Given the description of an element on the screen output the (x, y) to click on. 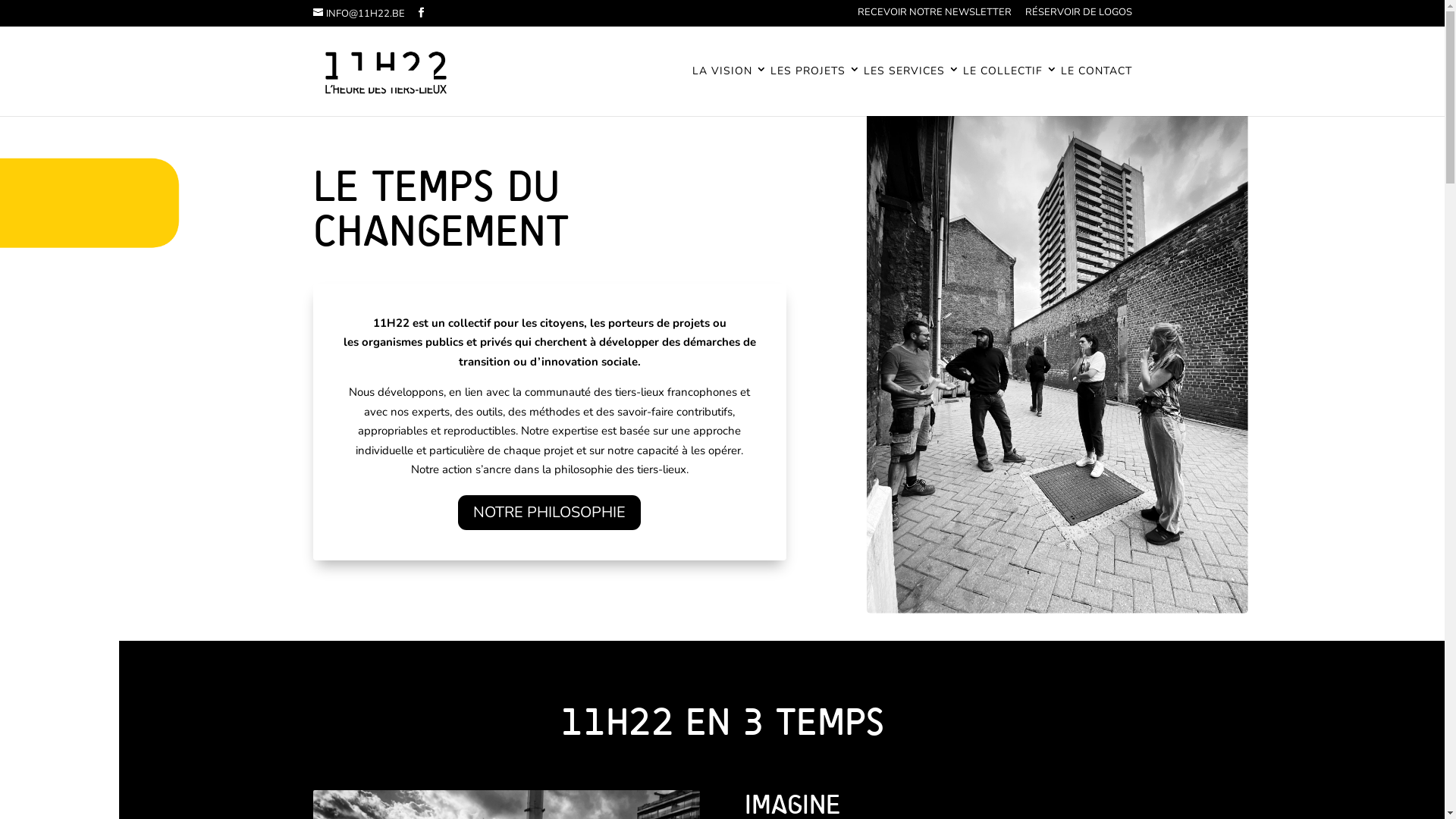
LES PROJETS Element type: text (815, 90)
LA VISION Element type: text (728, 90)
RECEVOIR NOTRE NEWSLETTER Element type: text (933, 16)
IMG_4353 Element type: hover (1016, 304)
LE CONTACT Element type: text (1095, 90)
LE COLLECTIF Element type: text (1010, 90)
NOTRE PHILOSOPHIE Element type: text (549, 512)
INFO@11H22.BE Element type: text (358, 13)
LES SERVICES Element type: text (910, 90)
